Given the description of an element on the screen output the (x, y) to click on. 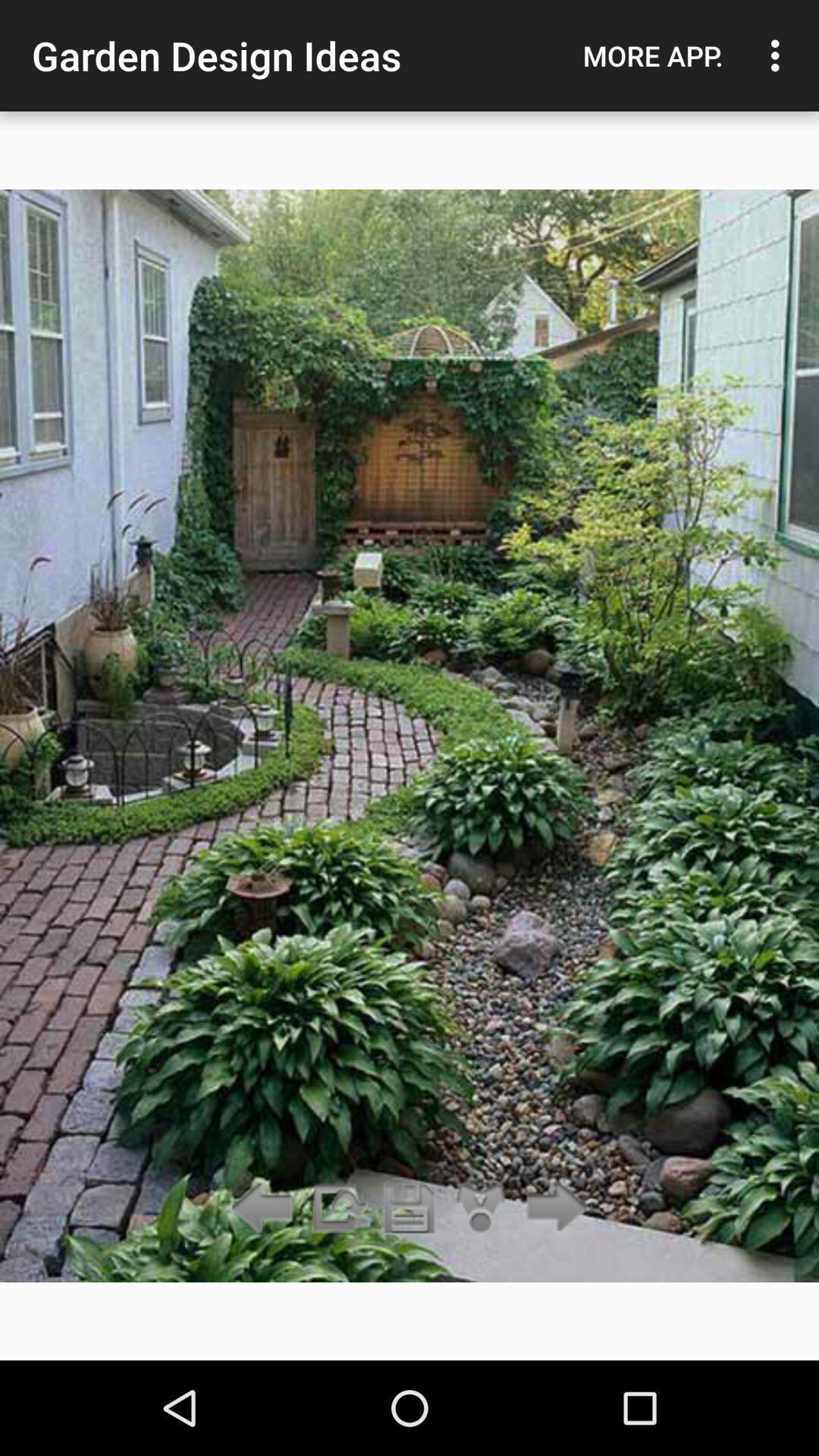
go forward (552, 1209)
